Given the description of an element on the screen output the (x, y) to click on. 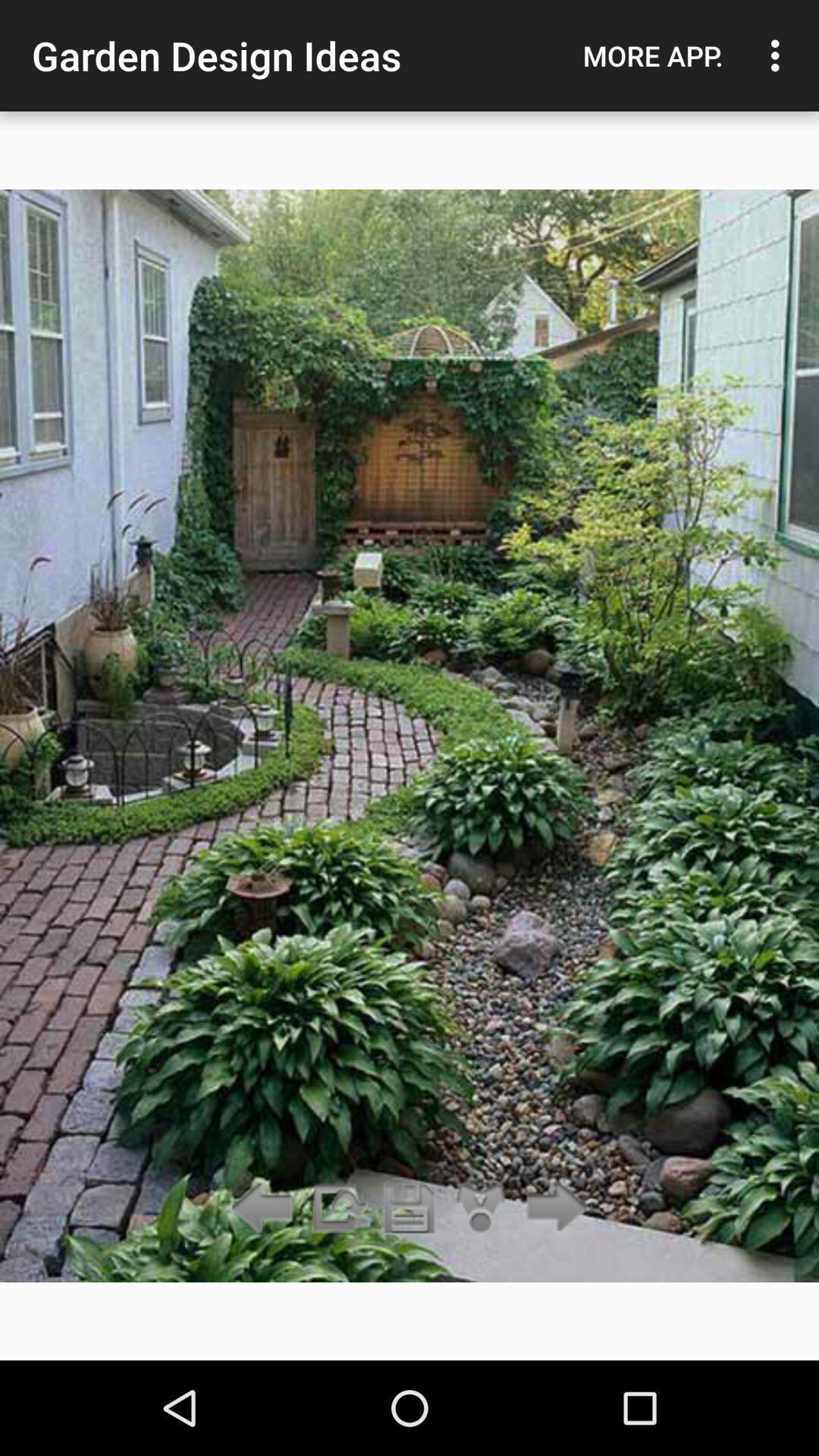
go forward (552, 1209)
